Given the description of an element on the screen output the (x, y) to click on. 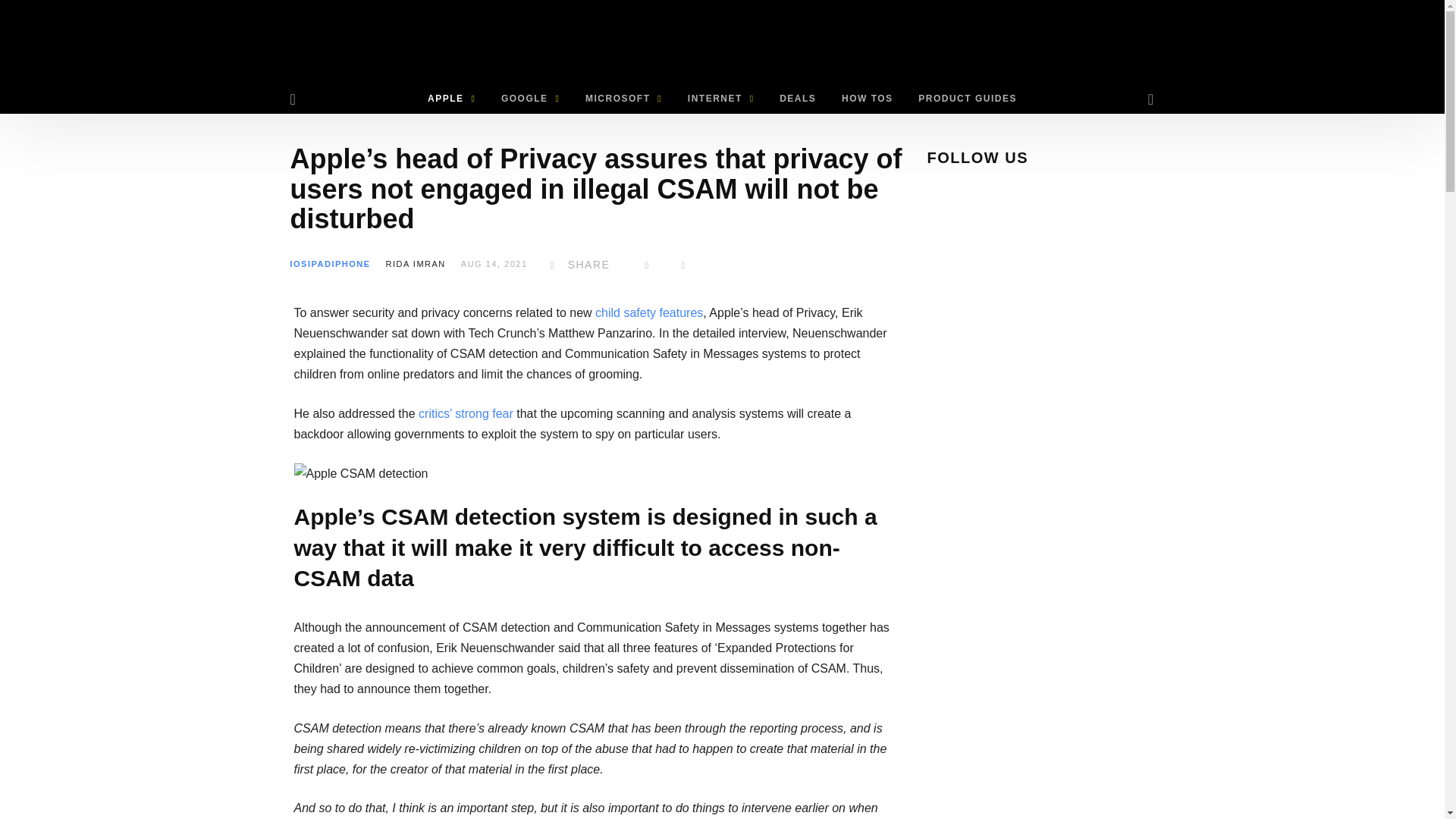
Share on Facebook (576, 264)
More (683, 264)
PRODUCT GUIDES (967, 98)
Share on Twitter (646, 264)
IPAD (319, 263)
View all posts in iPhone (350, 263)
APPLE (451, 98)
HOW TOS (866, 98)
RIDA IMRAN (415, 263)
INTERNET (721, 98)
IPHONE (350, 263)
View all posts in iOS (298, 263)
Posts by Rida Imran (415, 263)
SHARE (576, 264)
IOS (298, 263)
